Given the description of an element on the screen output the (x, y) to click on. 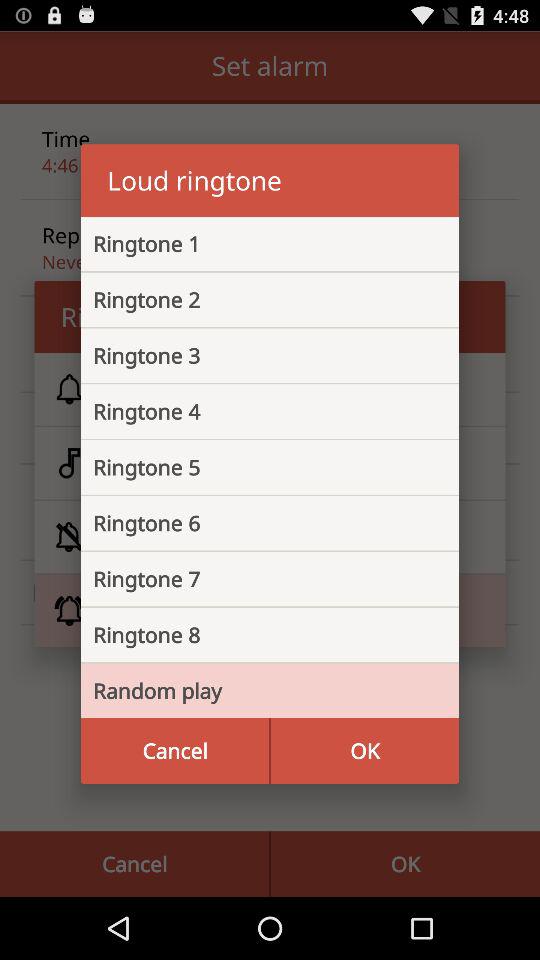
open ringtone 3 item (254, 355)
